Given the description of an element on the screen output the (x, y) to click on. 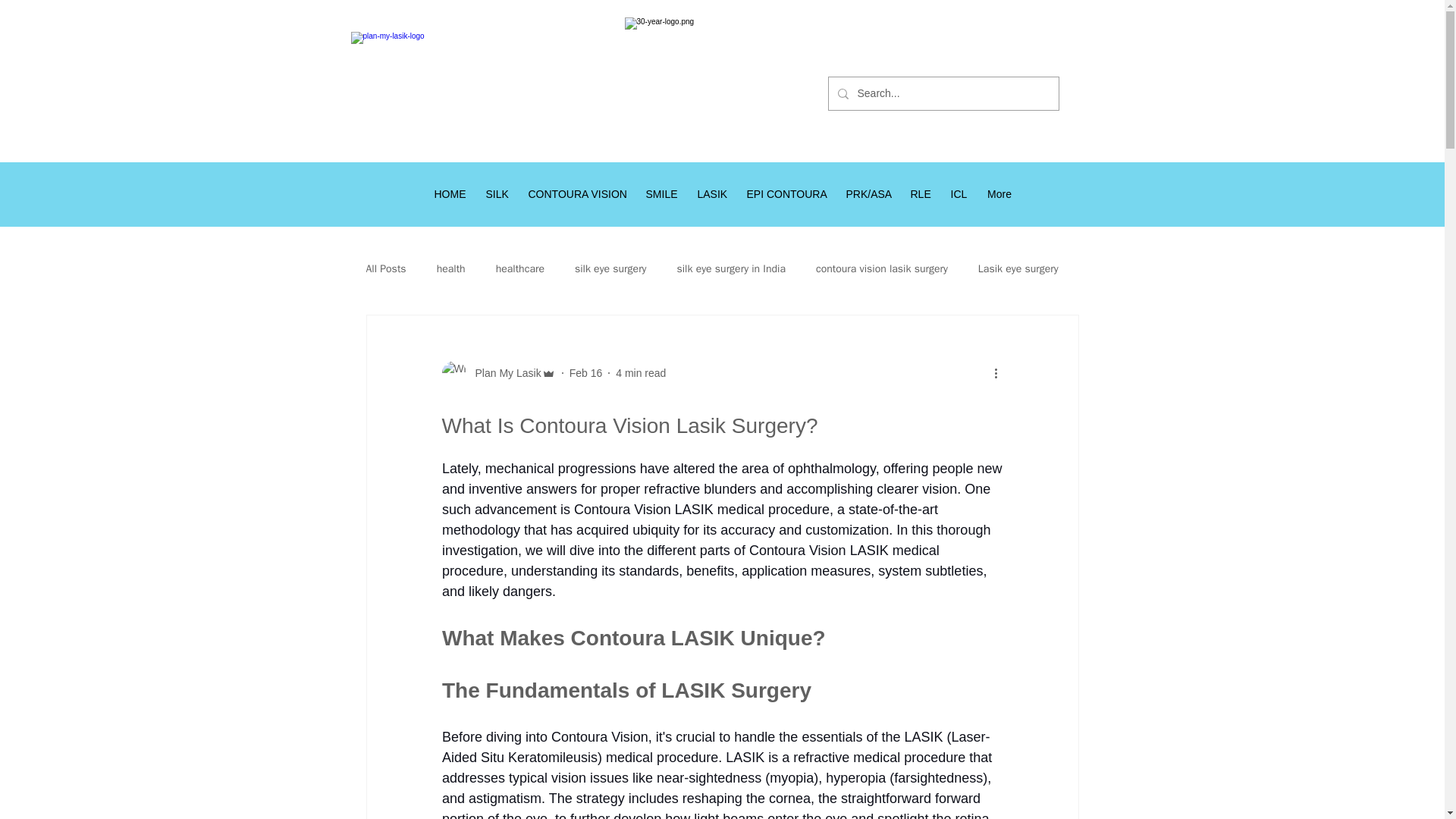
Plan My Lasik (497, 372)
EPI CONTOURA (785, 194)
All Posts (385, 269)
Plan My Lasik (502, 373)
Lasik eye surgery (1018, 269)
Feb 16 (585, 372)
ICL (958, 194)
contoura vision lasik surgery (881, 269)
CONTOURA VISION (577, 194)
HOME (450, 194)
SILK (497, 194)
healthcare (520, 269)
4 min read (640, 372)
health (450, 269)
silk eye surgery (610, 269)
